Given the description of an element on the screen output the (x, y) to click on. 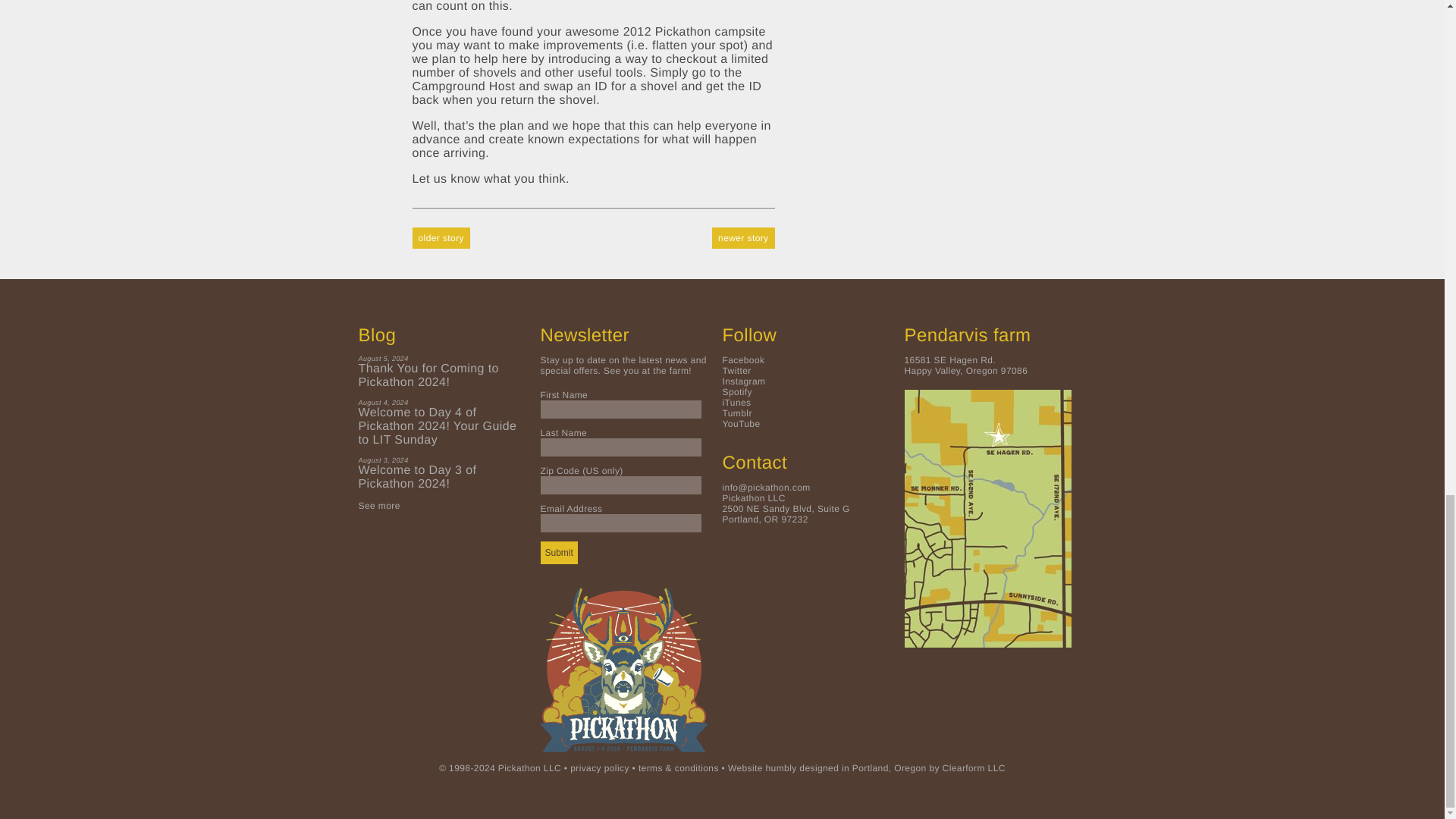
Spotify (737, 391)
Welcome to Day 4 of Pickathon 2024! Your Guide to LIT Sunday (441, 426)
newer story (742, 230)
YouTube (741, 423)
Instagram (743, 380)
Twitter (736, 370)
Submit (558, 552)
privacy policy (599, 767)
Tumblr (736, 412)
Welcome to Day 3 of Pickathon 2024! (441, 477)
